Given the description of an element on the screen output the (x, y) to click on. 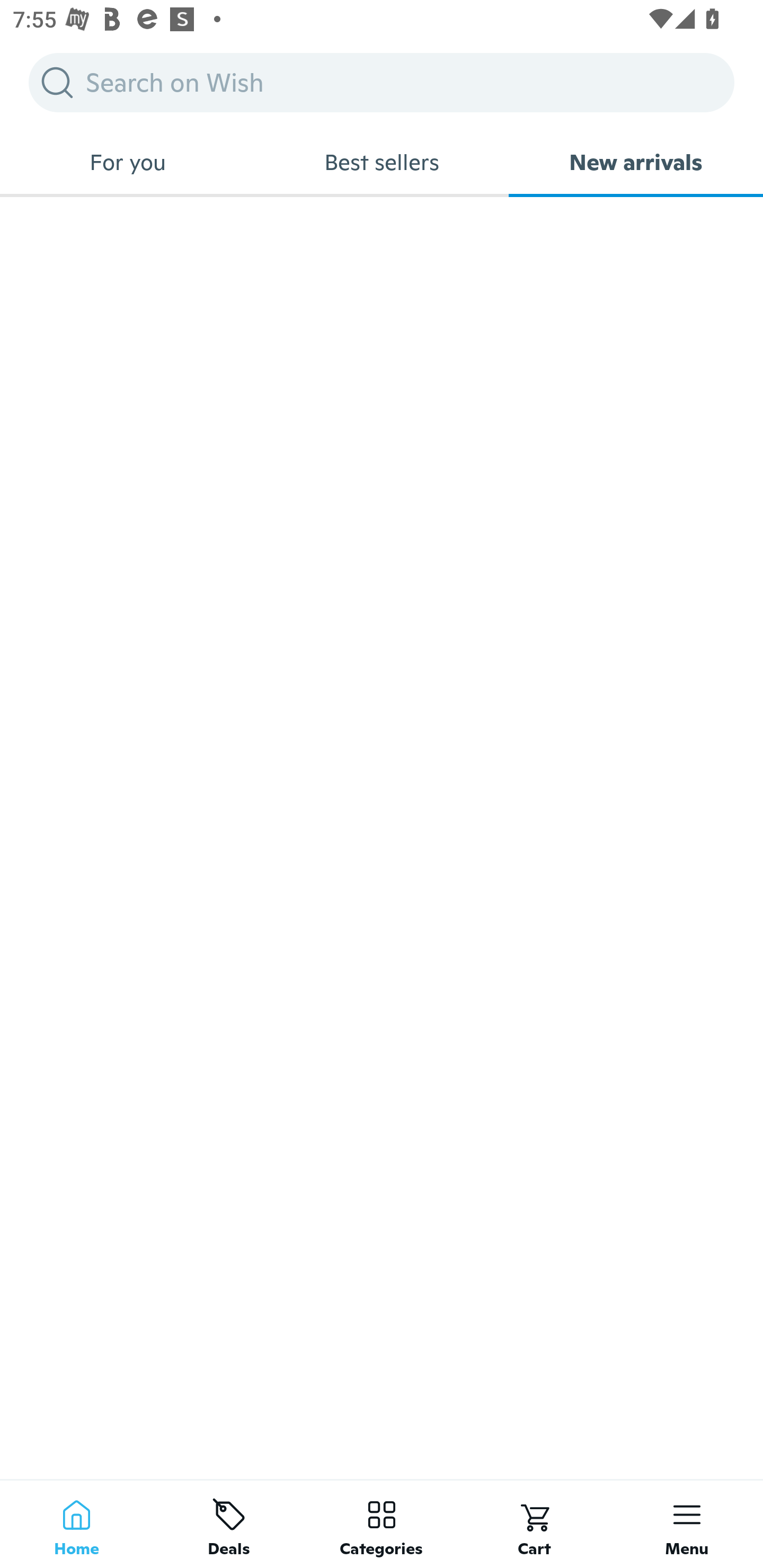
Search on Wish (381, 82)
For you (127, 161)
Best sellers (381, 161)
New arrivals (635, 161)
Home (76, 1523)
Deals (228, 1523)
Categories (381, 1523)
Cart (533, 1523)
Menu (686, 1523)
